Given the description of an element on the screen output the (x, y) to click on. 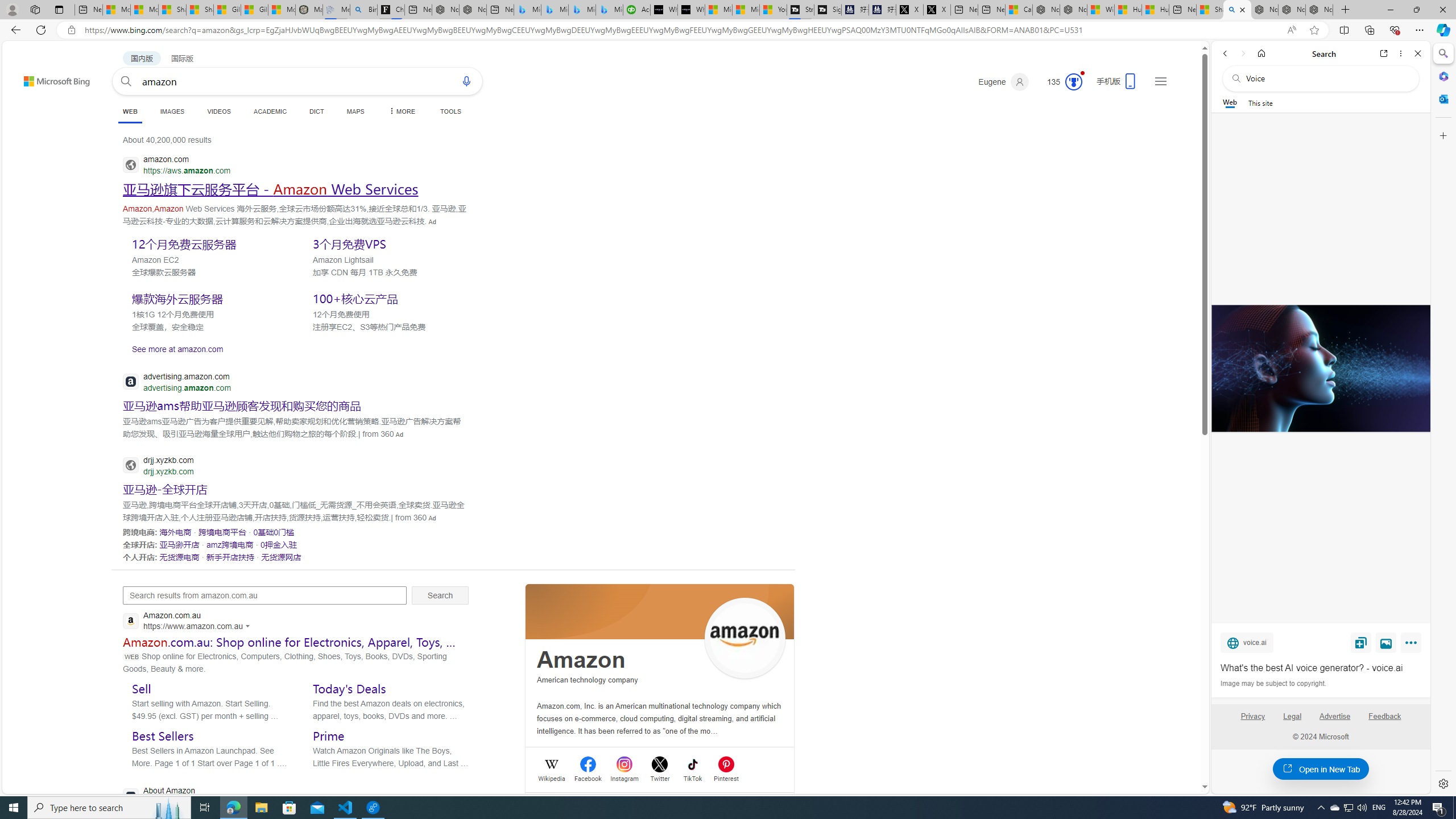
MAPS (355, 111)
voice.ai (1247, 642)
Save (1361, 642)
What's the best AI voice generator? - voice.ai (1320, 667)
Nordace - Best Sellers (1264, 9)
TOOLS (450, 111)
App bar (728, 29)
Sell (141, 688)
Home (1261, 53)
Close tab (1242, 9)
View site information (70, 29)
